Given the description of an element on the screen output the (x, y) to click on. 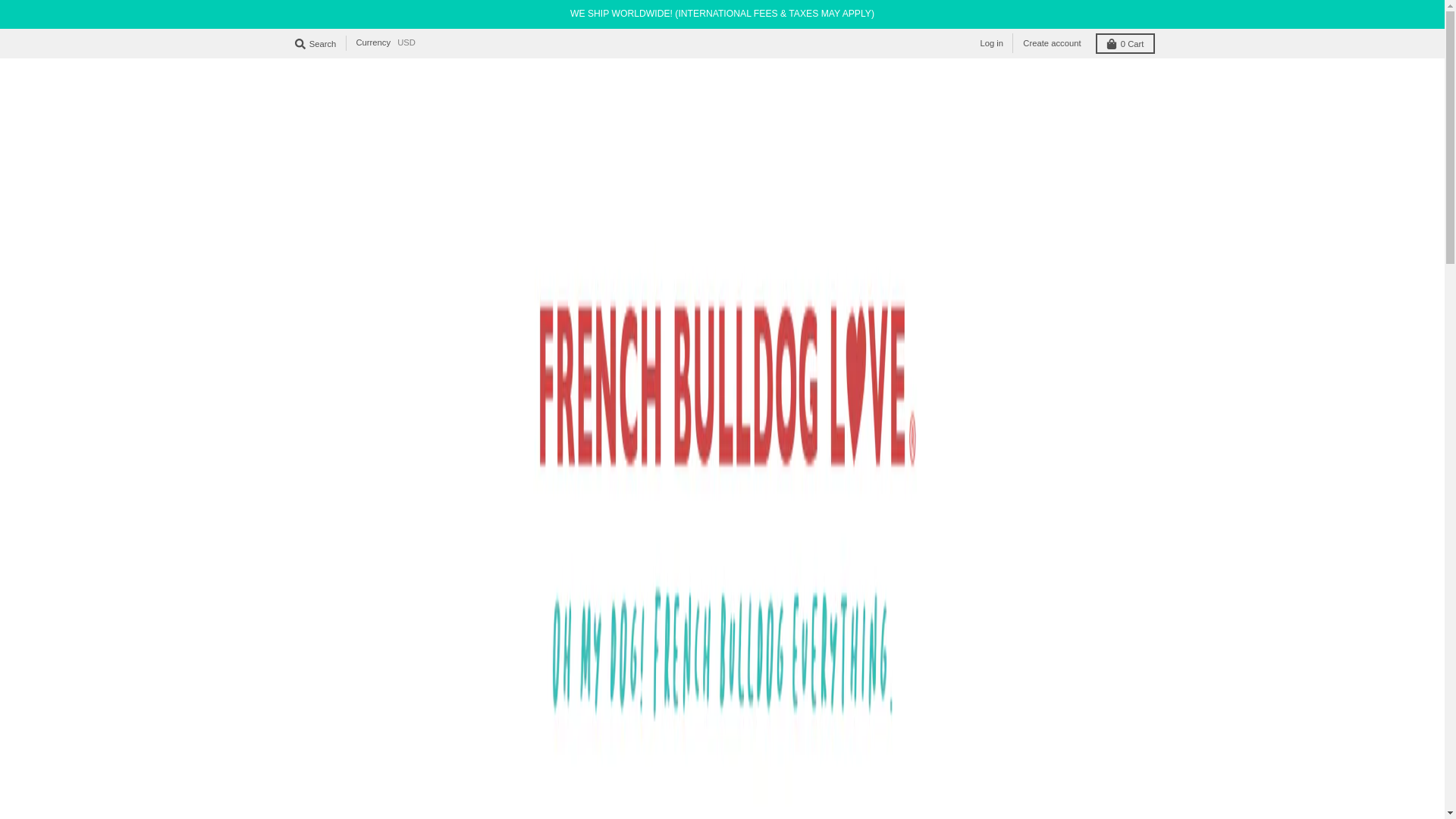
Create account (1050, 43)
Search (314, 43)
0 Cart (1125, 43)
Log in (991, 43)
